Given the description of an element on the screen output the (x, y) to click on. 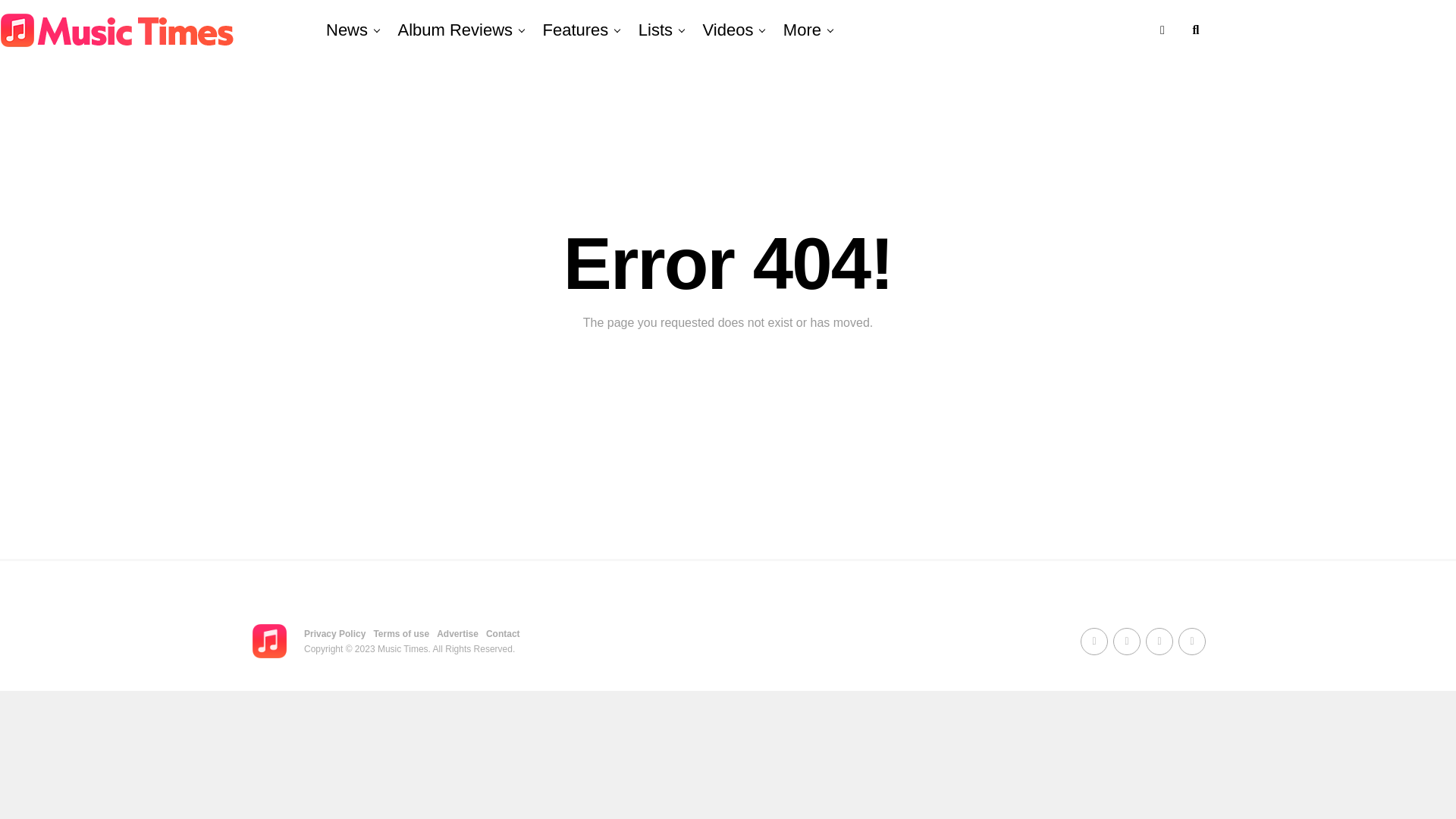
Features (575, 30)
Album Reviews (454, 30)
News (346, 30)
Videos (728, 30)
